Given the description of an element on the screen output the (x, y) to click on. 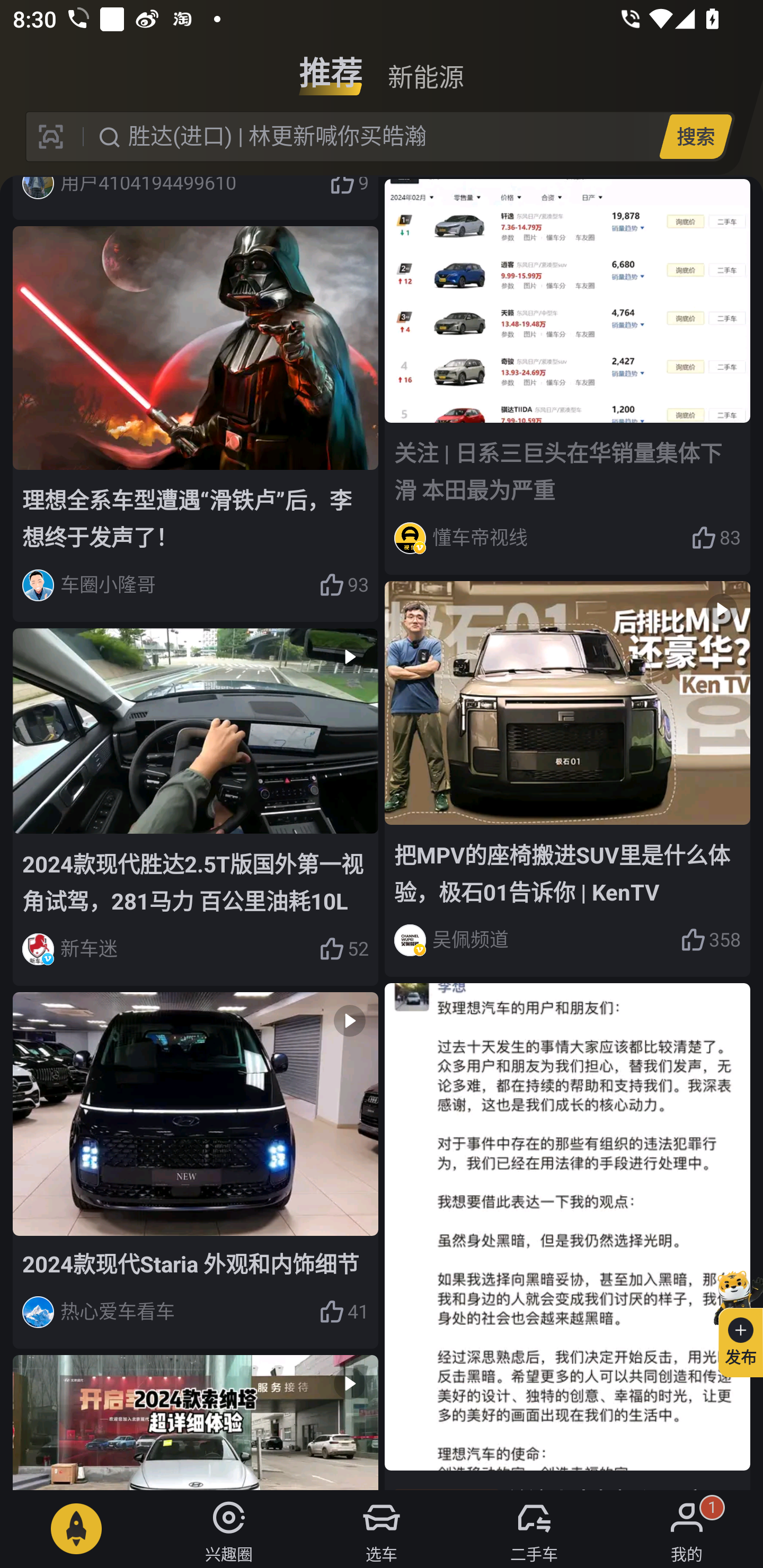
推荐 (330, 65)
新能源 (425, 65)
搜索 (695, 136)
关注 | 日系三巨头在华销量集体下滑 本田最为严重 懂车帝视线 83 (567, 376)
理想全系车型遭遇“滑铁卢”后，李想终于发声了！ 车圈小隆哥 93 (195, 423)
83 (715, 537)
93 (343, 585)
 把MPV的座椅搬进SUV里是什么体验，极石01告诉你 | KenTV 吴佩频道 358 (567, 778)
 2024款现代胜达2.5T版国外第一视角试驾，281马力 百公里油耗10L 新车迷 52 (195, 807)
358 (710, 939)
52 (343, 949)
 热榜第3名 关注丨李想疑似回应MEGA被抹黑：用法律手段对抗有组织的犯罪行为 (567, 1236)
 2024款现代Staria 外观和内饰细节 热心爱车看车 41 (195, 1170)
发布 (732, 1321)
41 (343, 1311)
 (195, 1421)
 兴趣圈 (228, 1528)
 选车 (381, 1528)
 二手车 (533, 1528)
 我的 (686, 1528)
